Given the description of an element on the screen output the (x, y) to click on. 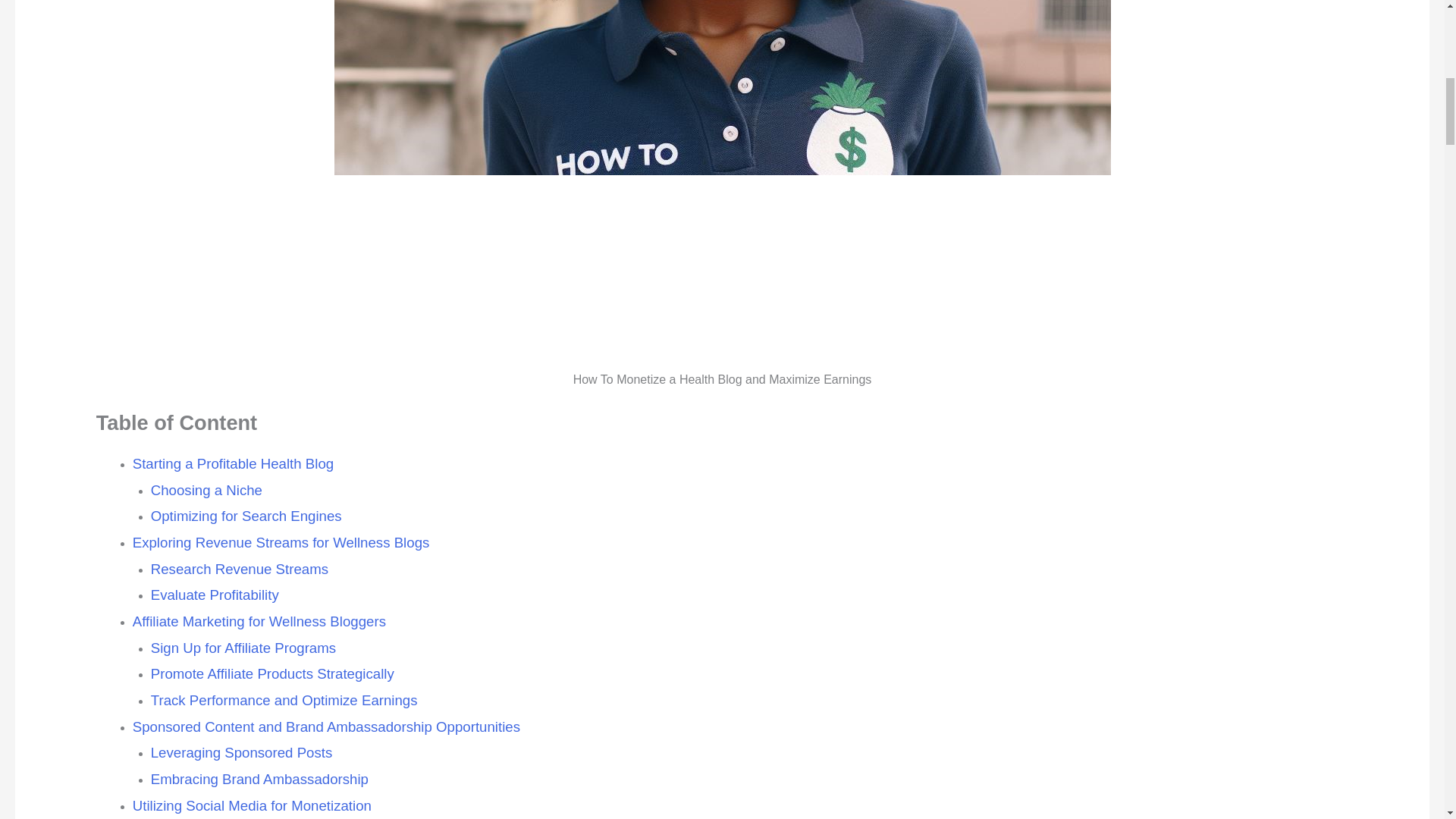
Exploring Revenue Streams for Wellness Blogs (280, 542)
Optimizing for Search Engines (246, 515)
Starting a Profitable Health Blog (233, 463)
Choosing a Niche (206, 489)
